Given the description of an element on the screen output the (x, y) to click on. 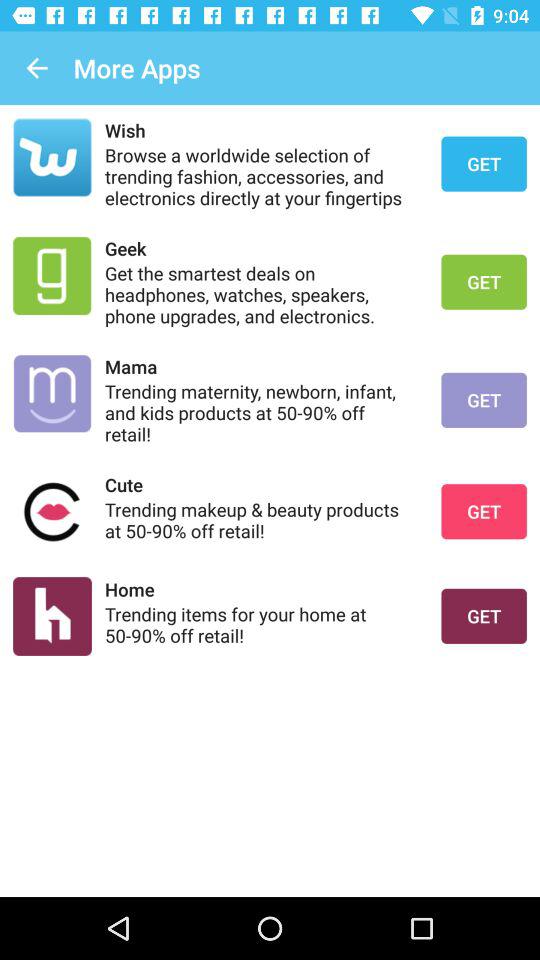
tap icon below home (260, 624)
